Given the description of an element on the screen output the (x, y) to click on. 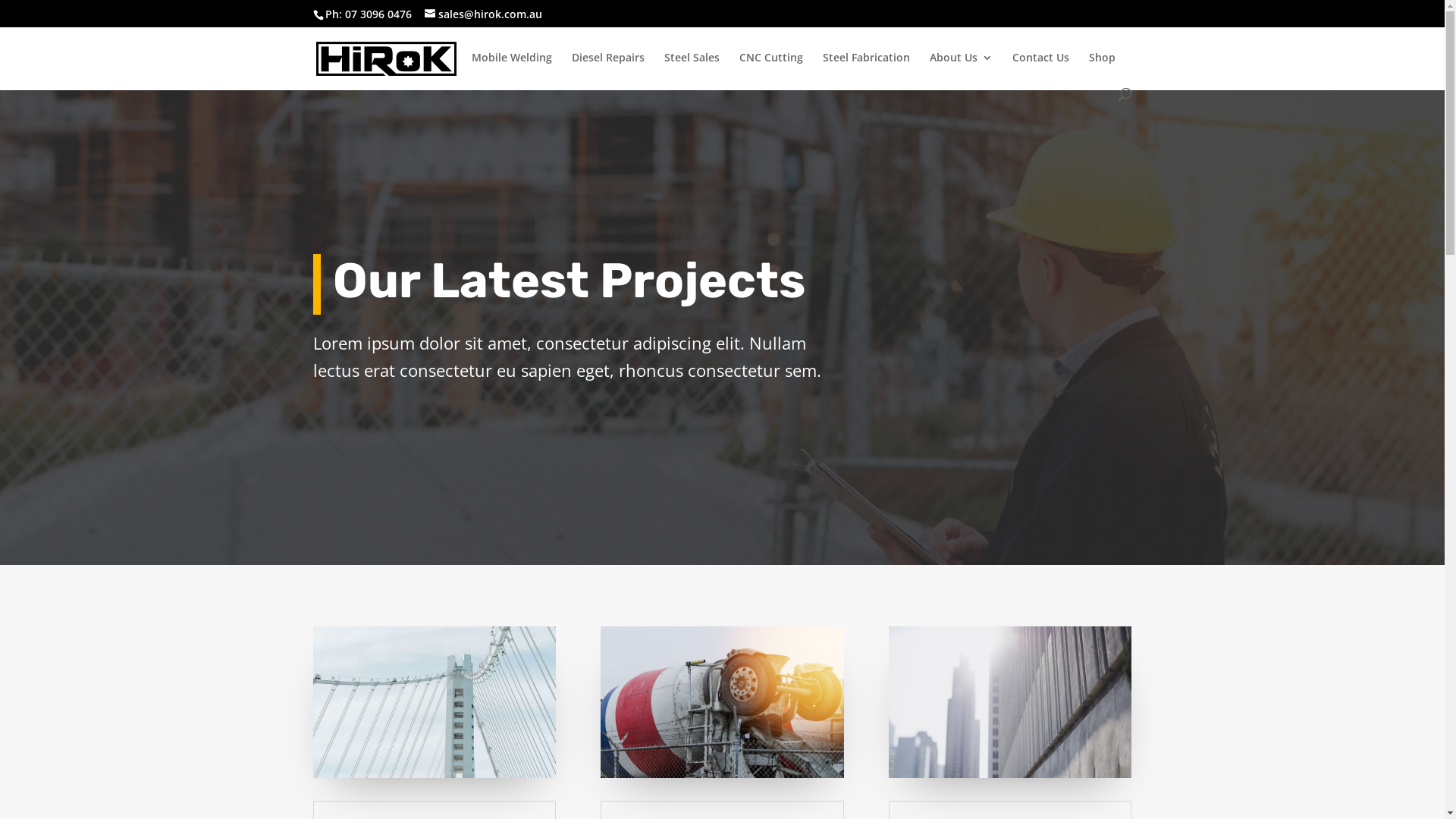
Mobile Welding Element type: text (511, 69)
Contact Us Element type: text (1039, 69)
sales@hirok.com.au Element type: text (483, 13)
CNC Cutting Element type: text (770, 69)
Shop Element type: text (1101, 69)
About Us Element type: text (960, 69)
Steel Sales Element type: text (691, 69)
Steel Fabrication Element type: text (865, 69)
Diesel Repairs Element type: text (607, 69)
